Given the description of an element on the screen output the (x, y) to click on. 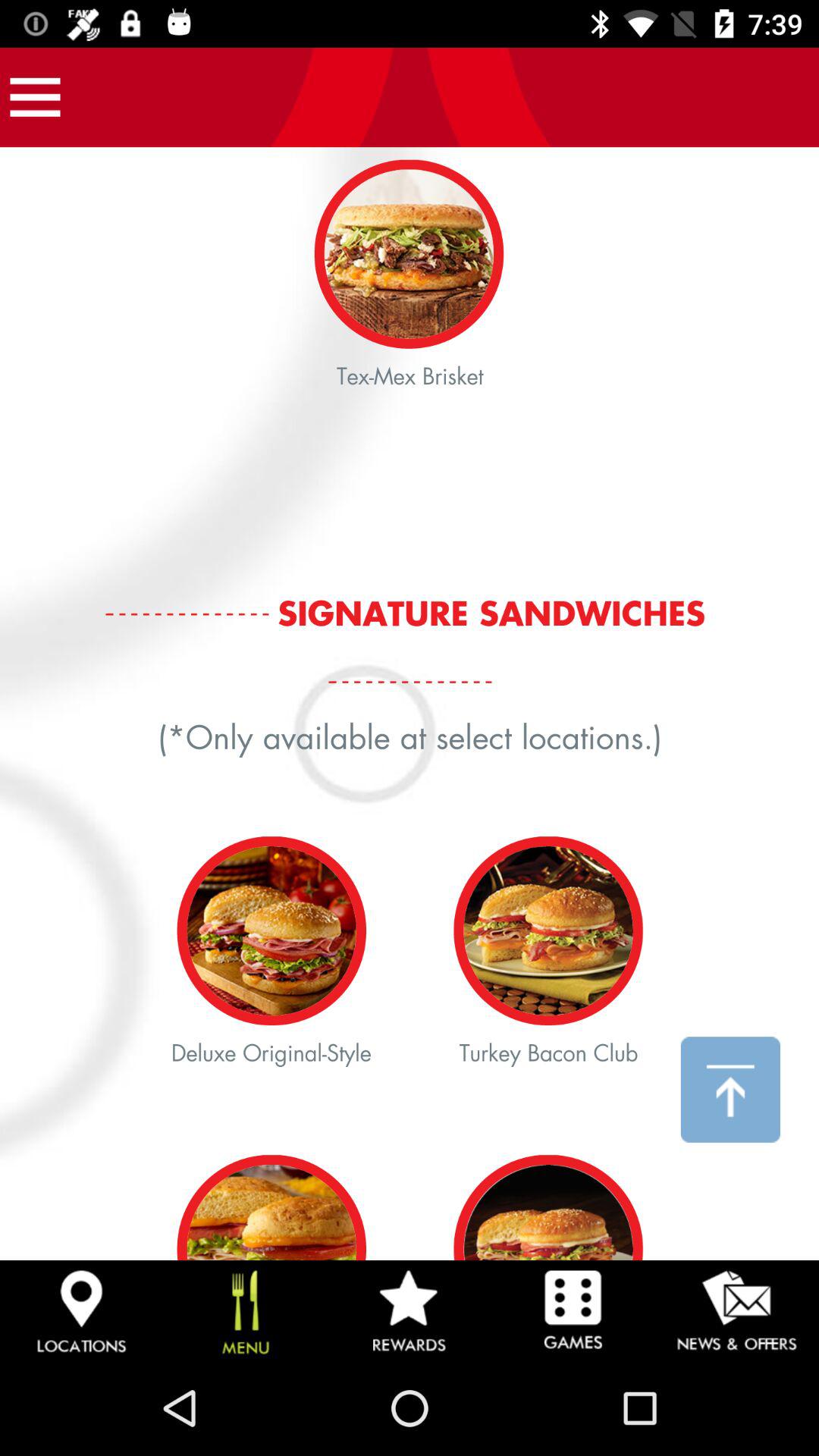
open app navigation options (35, 97)
